Given the description of an element on the screen output the (x, y) to click on. 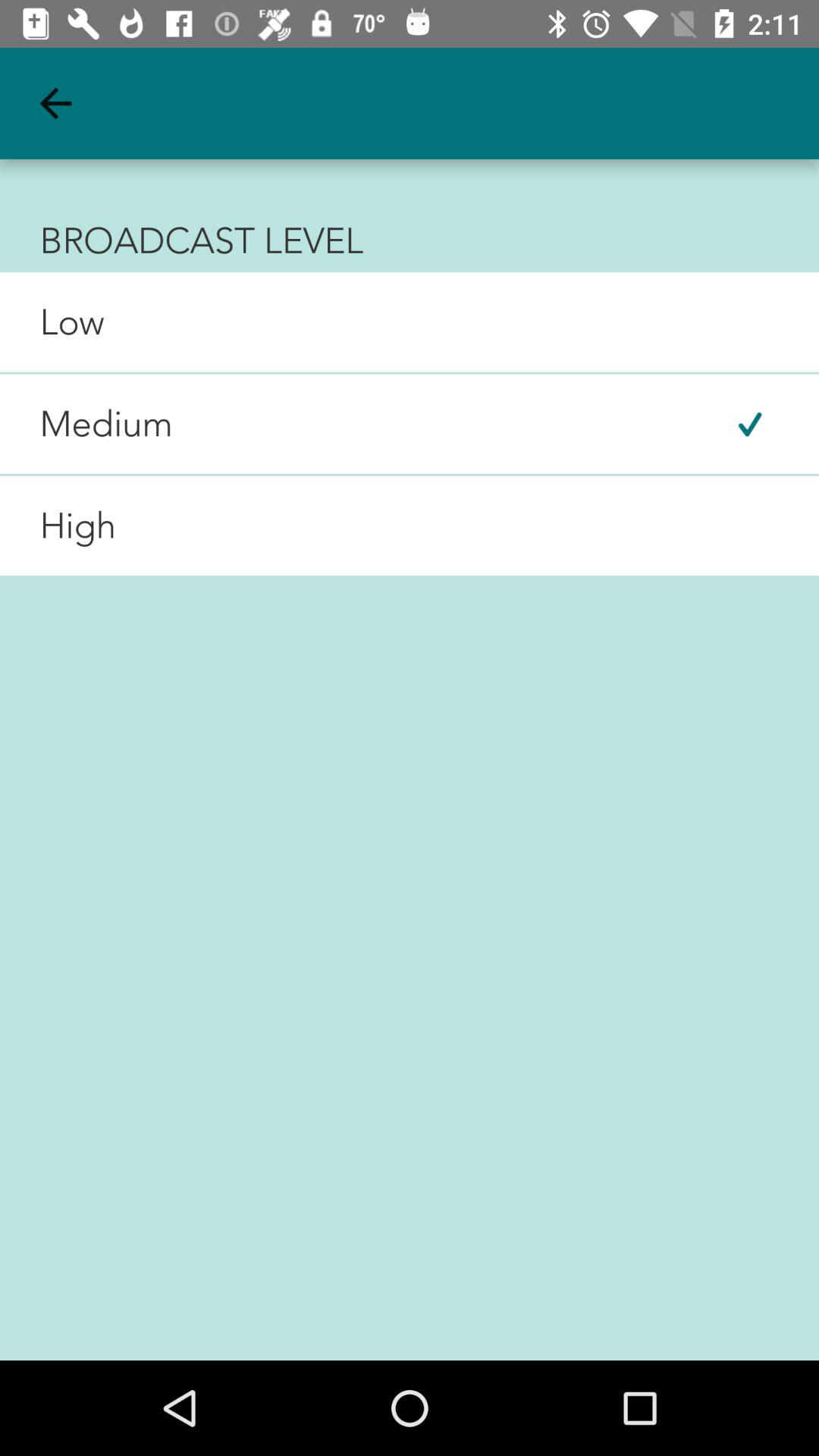
tap the item above the broadcast level icon (55, 103)
